Given the description of an element on the screen output the (x, y) to click on. 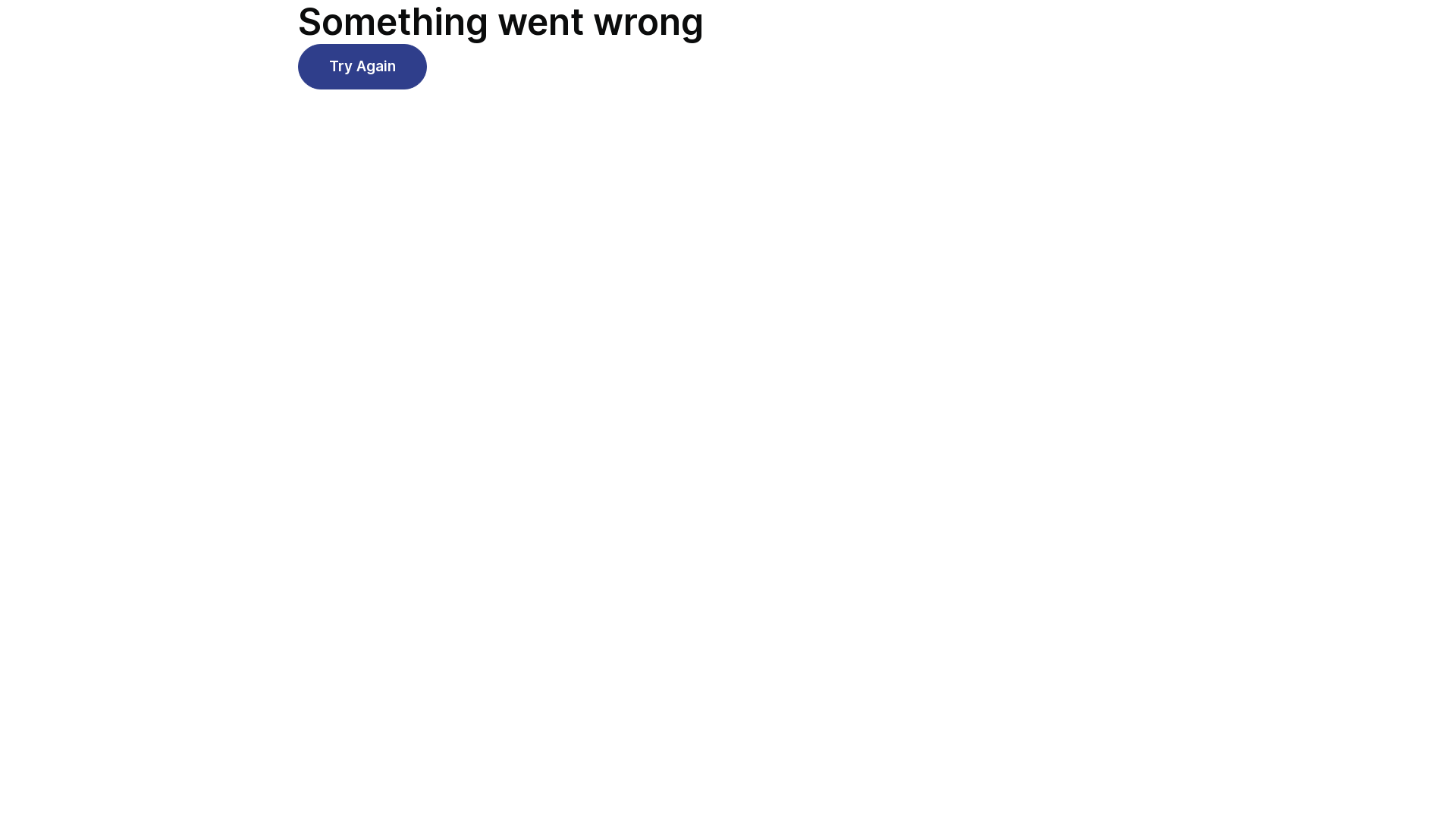
Try Again Element type: text (362, 66)
